Given the description of an element on the screen output the (x, y) to click on. 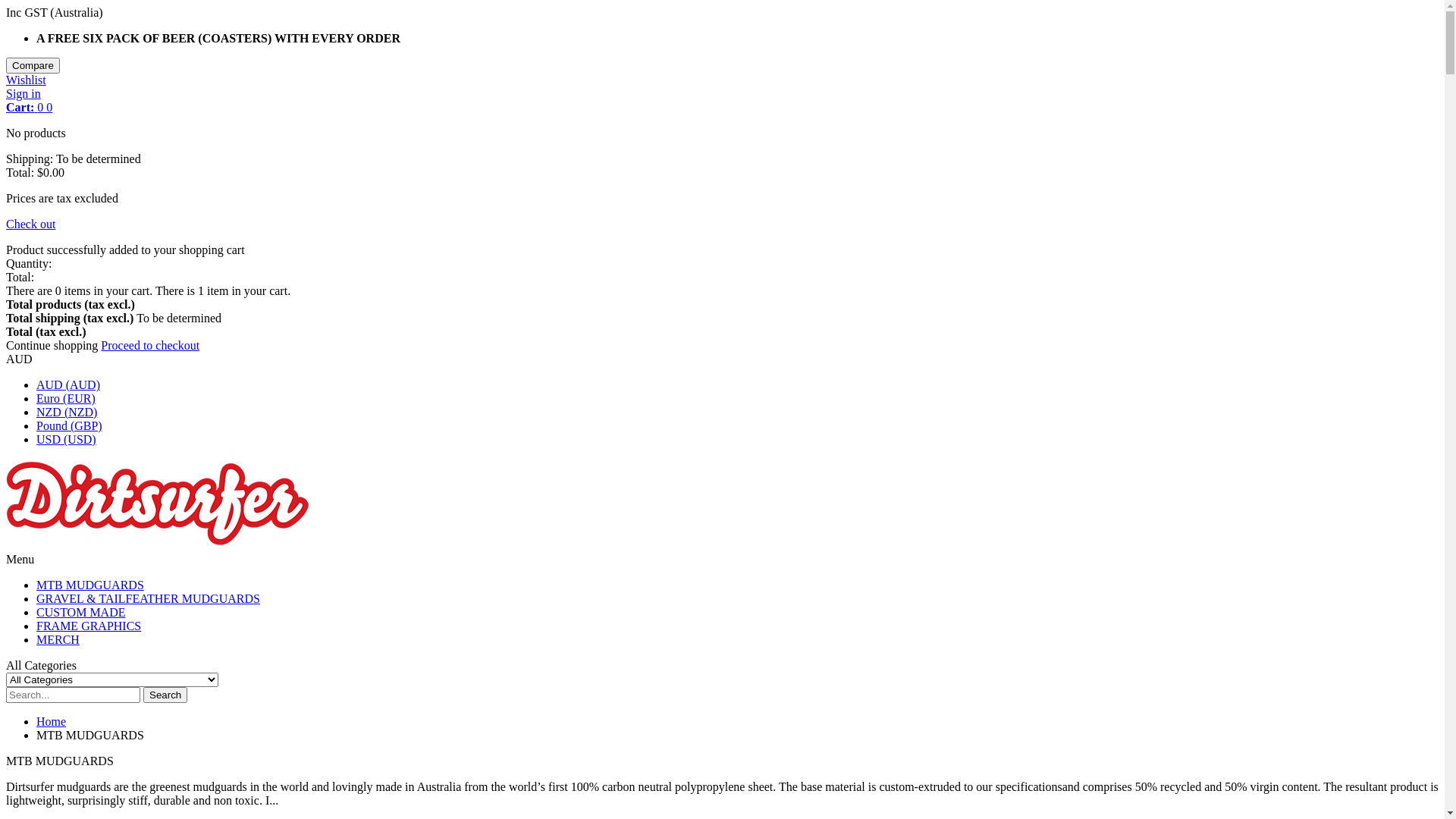
USD (USD) Element type: text (66, 439)
Pound (GBP) Element type: text (69, 425)
GRAVEL & TAILFEATHER MUDGUARDS Element type: text (148, 598)
Search Element type: text (165, 694)
Euro (EUR) Element type: text (65, 398)
MERCH Element type: text (57, 639)
Check out Element type: text (30, 223)
Compare Element type: text (32, 65)
AUD (AUD) Element type: text (68, 384)
CUSTOM MADE Element type: text (80, 611)
Cart: 0 0 Element type: text (29, 106)
Sign in Element type: text (23, 93)
MTB MUDGUARDS Element type: text (90, 584)
Dirtsurfer Element type: hover (157, 545)
Wishlist Element type: text (26, 79)
Proceed to checkout Element type: text (149, 344)
FRAME GRAPHICS Element type: text (88, 625)
Home Element type: text (50, 721)
NZD (NZD) Element type: text (66, 411)
